Given the description of an element on the screen output the (x, y) to click on. 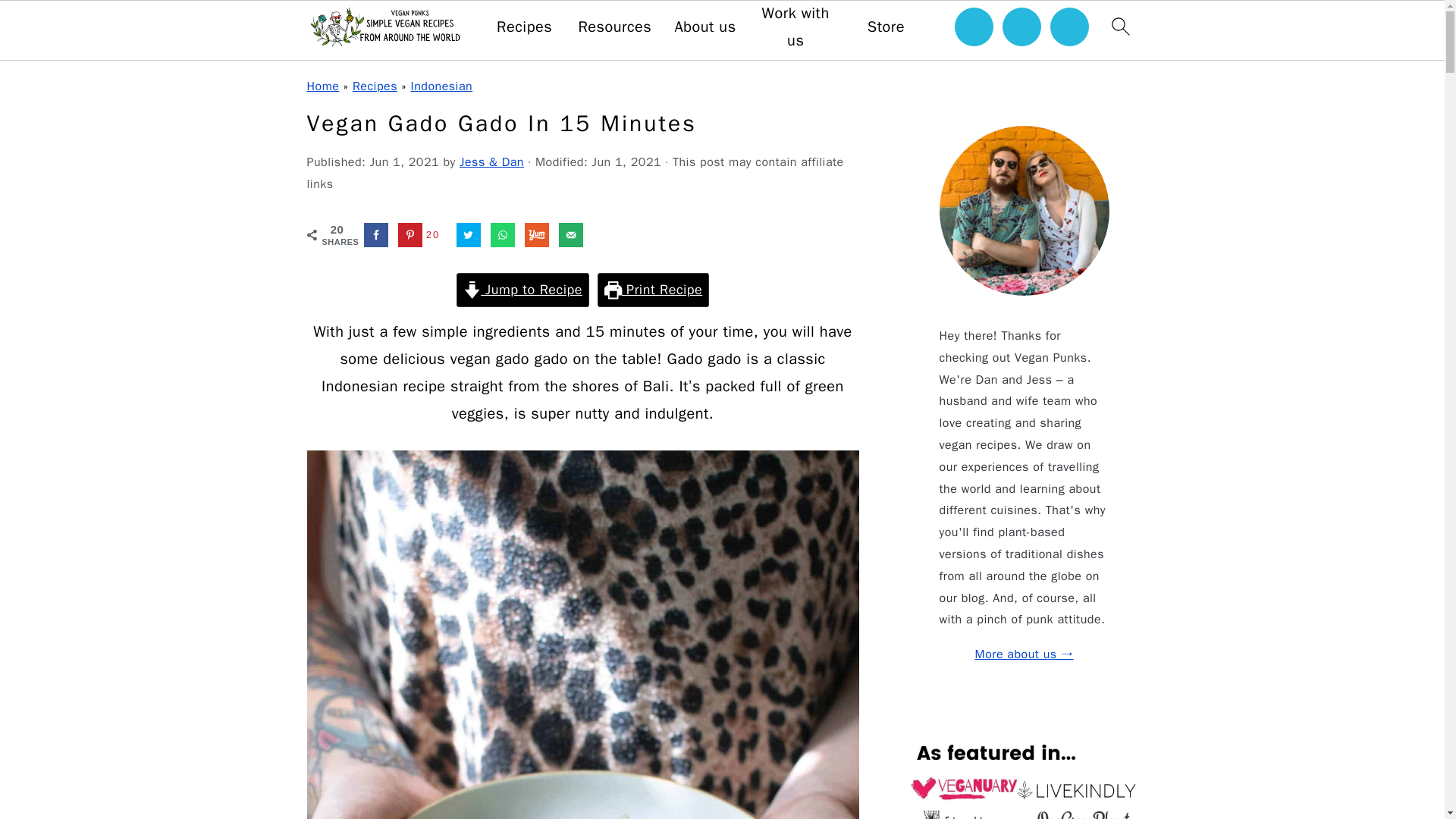
search icon (1119, 26)
Indonesian (440, 86)
Share on WhatsApp (502, 234)
Recipes (523, 26)
Share on Twitter (468, 234)
About us (704, 26)
Share on Yummly (536, 234)
Resources (614, 26)
Home (322, 86)
Save to Pinterest (421, 234)
Recipes (374, 86)
Work with us (795, 27)
Store (885, 26)
Share on Facebook (376, 234)
